Given the description of an element on the screen output the (x, y) to click on. 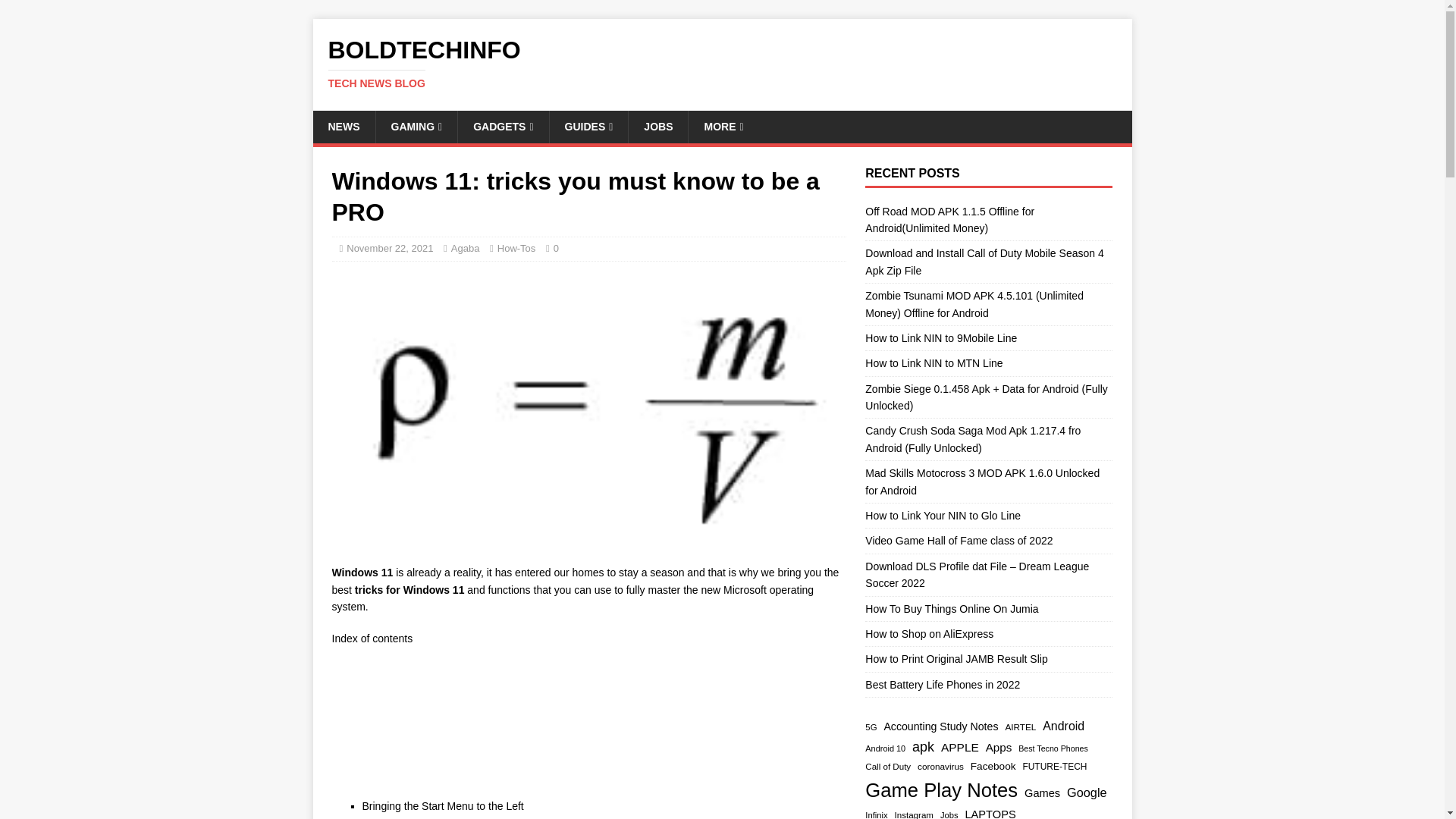
BOLDTECHINFO (721, 63)
0 (721, 63)
